Given the description of an element on the screen output the (x, y) to click on. 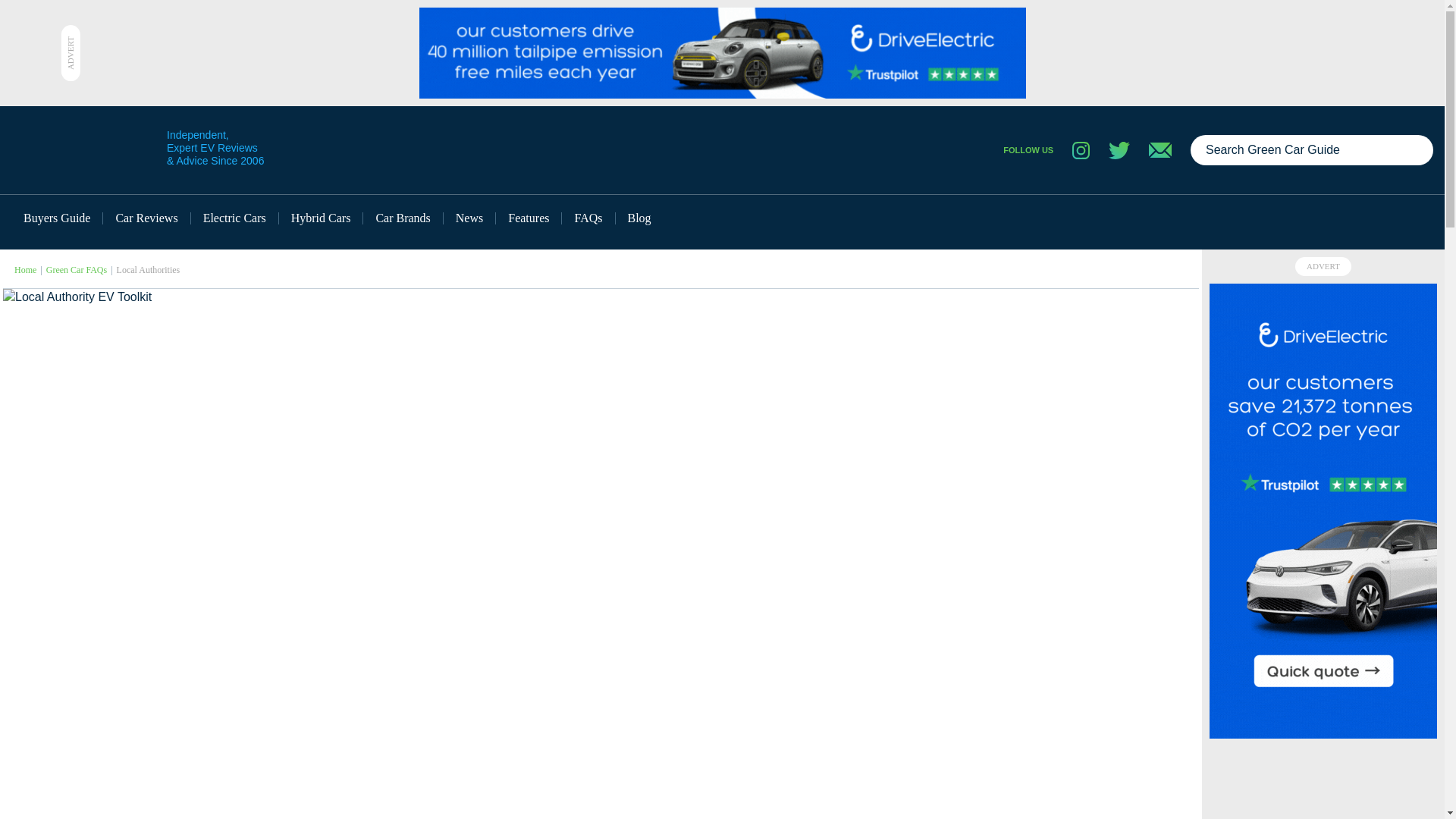
Search (1414, 150)
Electric Cars (234, 218)
Go to GreenCarGuide.co.uk. (25, 269)
Search (1414, 150)
Car Reviews (146, 218)
Buyers Guide (57, 218)
Go to Green Car FAQs. (76, 269)
